Given the description of an element on the screen output the (x, y) to click on. 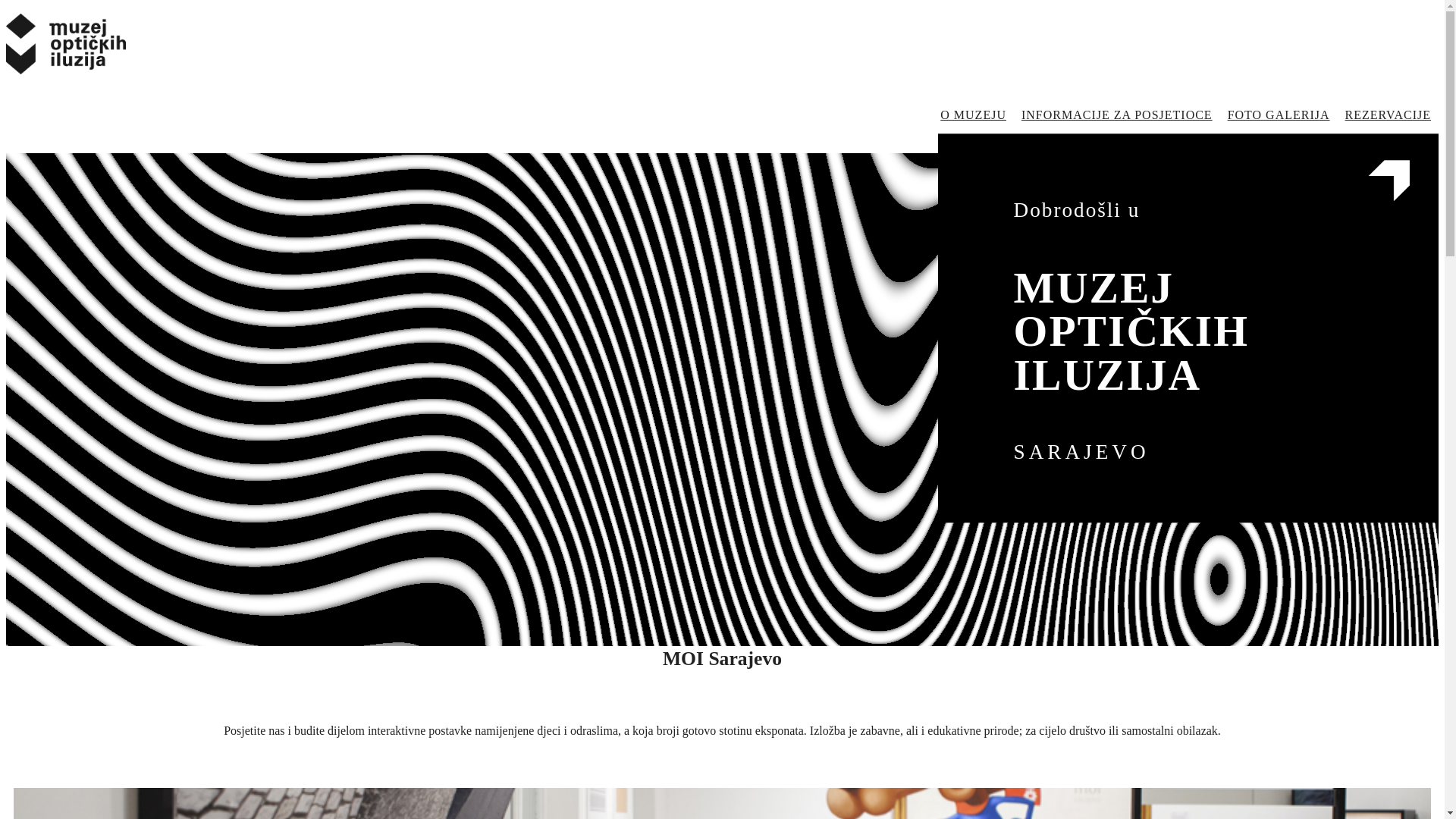
O MUZEJU Element type: text (973, 114)
FOTO GALERIJA Element type: text (1278, 114)
INFORMACIJE ZA POSJETIOCE Element type: text (1116, 114)
REZERVACIJE Element type: text (1387, 114)
